Given the description of an element on the screen output the (x, y) to click on. 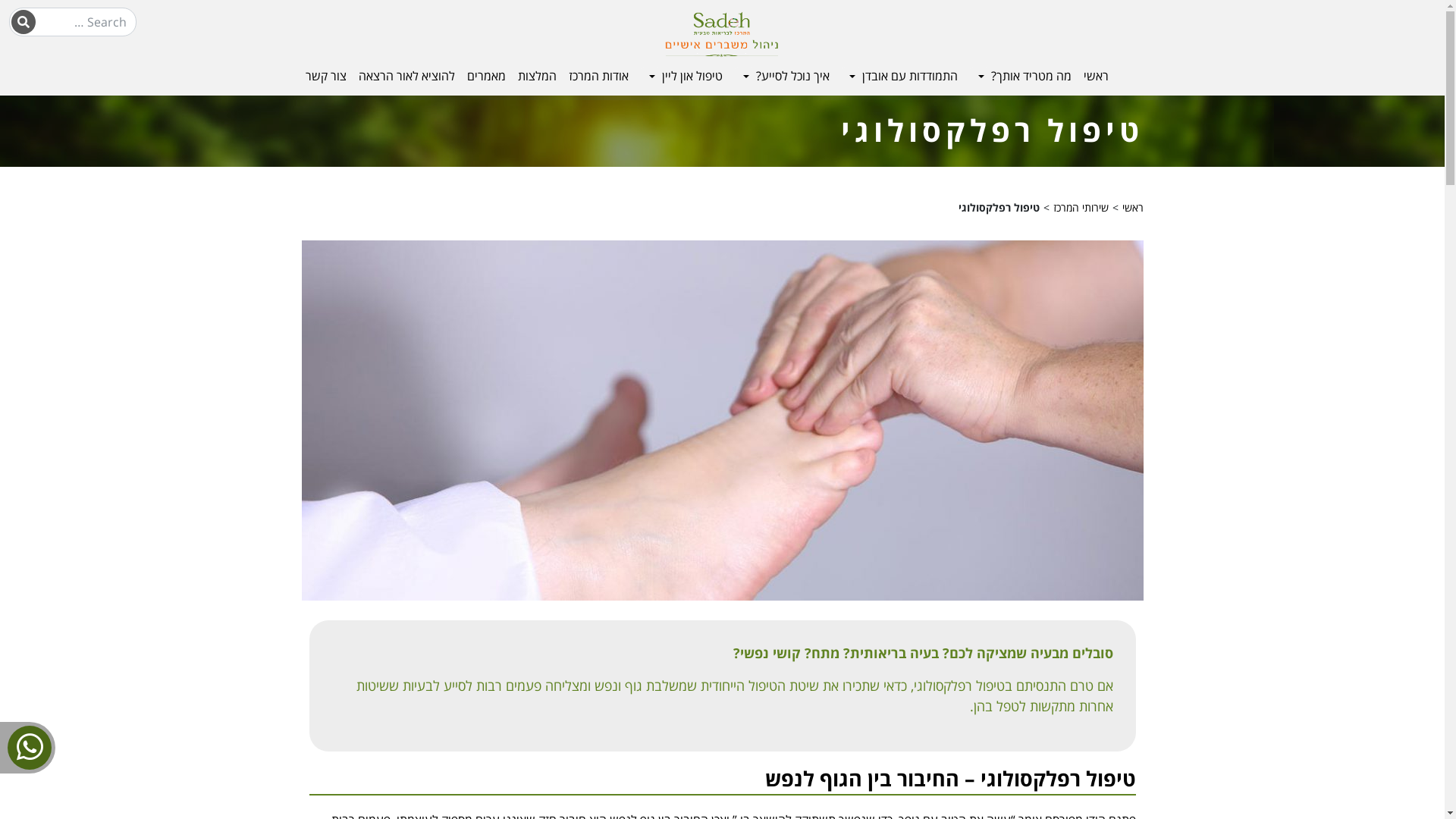
Toggle Dropdown Element type: text (743, 76)
Toggle Dropdown Element type: text (850, 76)
Search Element type: text (23, 21)
Toggle Dropdown Element type: text (978, 76)
Toggle Dropdown Element type: text (649, 76)
